Given the description of an element on the screen output the (x, y) to click on. 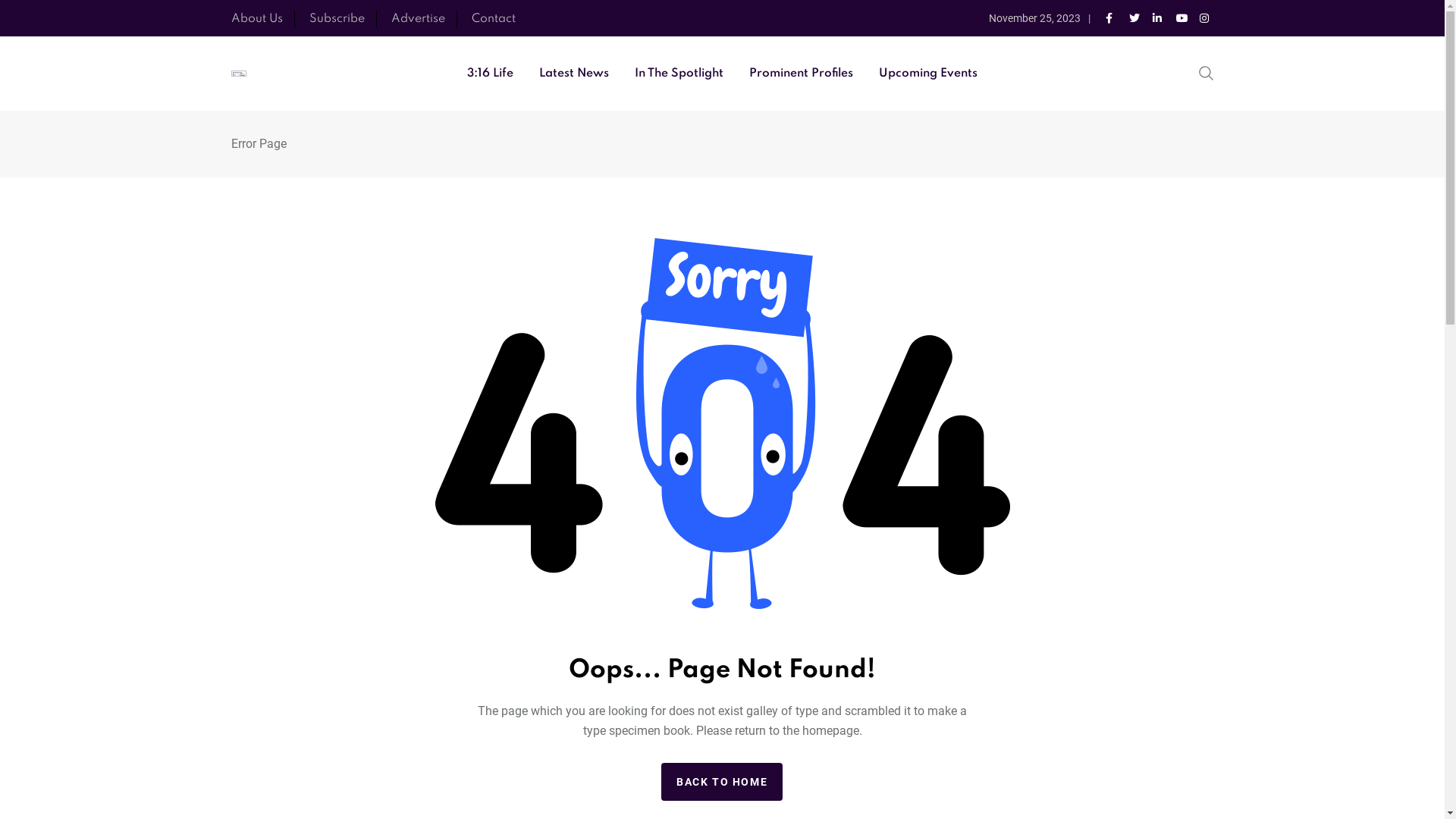
Latest News Element type: text (573, 73)
Contact Element type: text (493, 18)
BACK TO HOME Element type: text (721, 781)
In The Spotlight Element type: text (678, 73)
Prominent Profiles Element type: text (800, 73)
3:16 Life Element type: text (489, 73)
Advertise Element type: text (418, 18)
Upcoming Events Element type: text (927, 73)
Search Element type: hover (1205, 71)
About Us Element type: text (256, 18)
Subscribe Element type: text (336, 18)
